Given the description of an element on the screen output the (x, y) to click on. 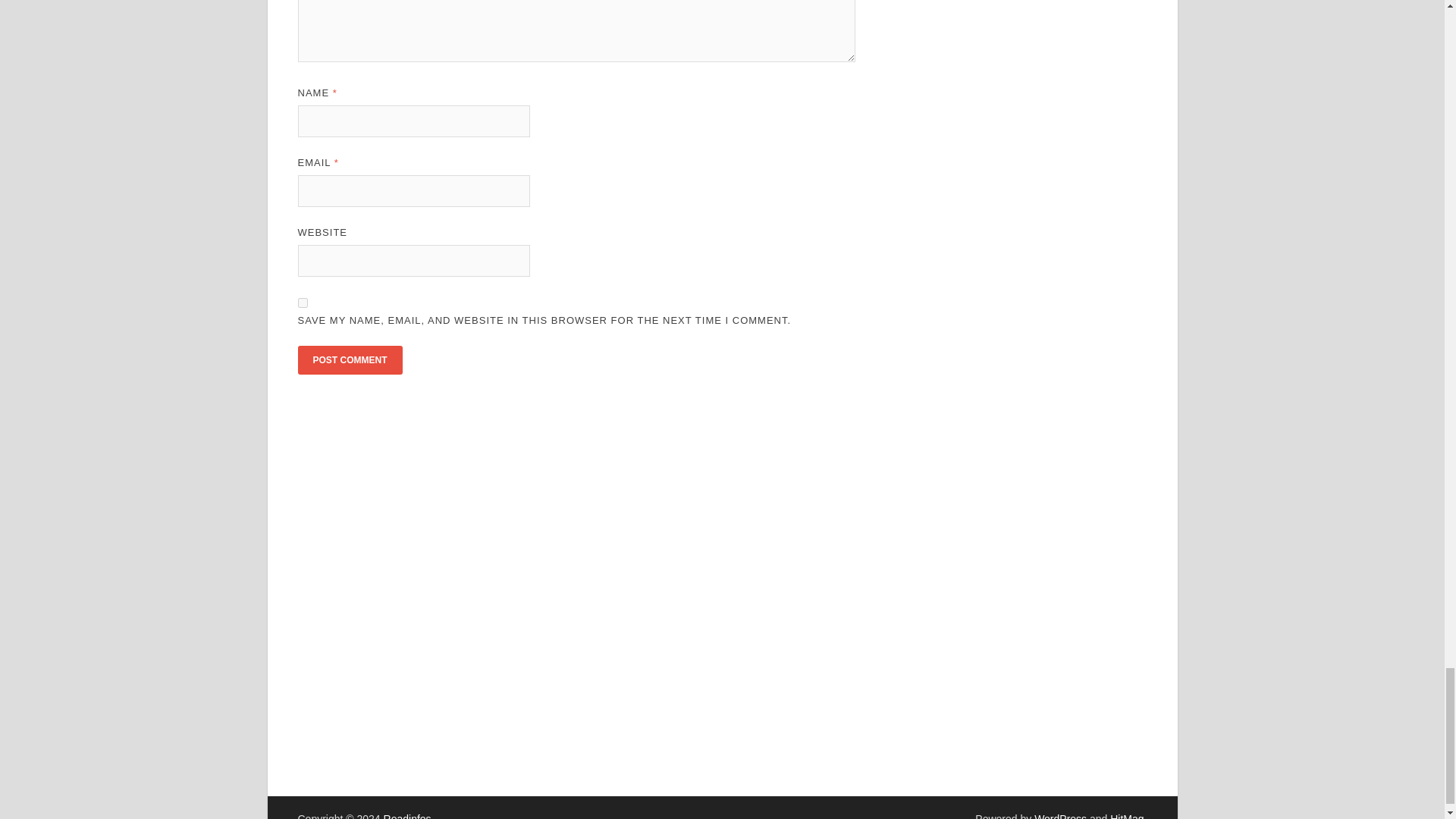
yes (302, 302)
Post Comment (349, 359)
